Given the description of an element on the screen output the (x, y) to click on. 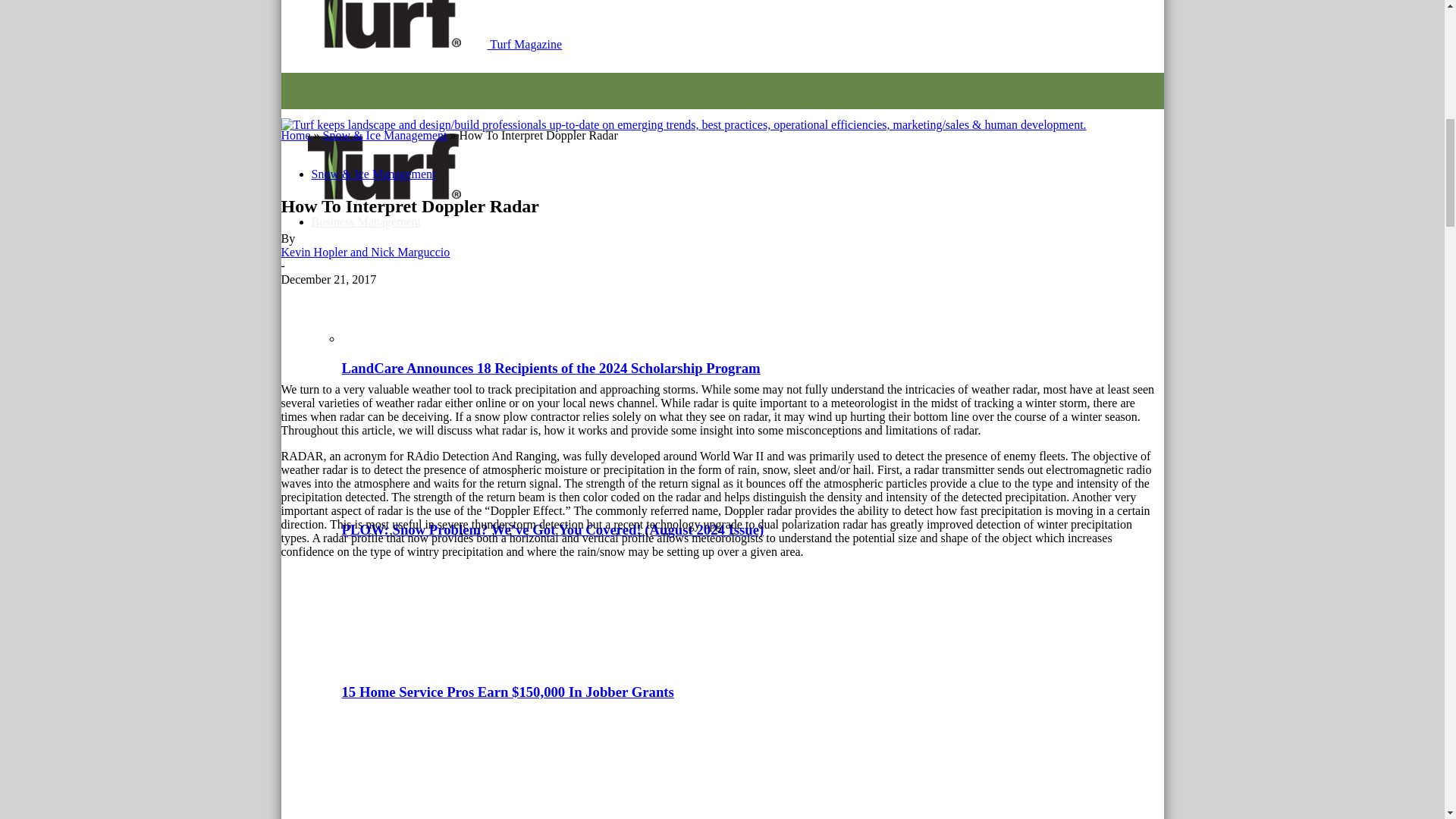
Turf Magazine (383, 24)
Turf Magazine (383, 165)
Turf Magazine (683, 124)
